Given the description of an element on the screen output the (x, y) to click on. 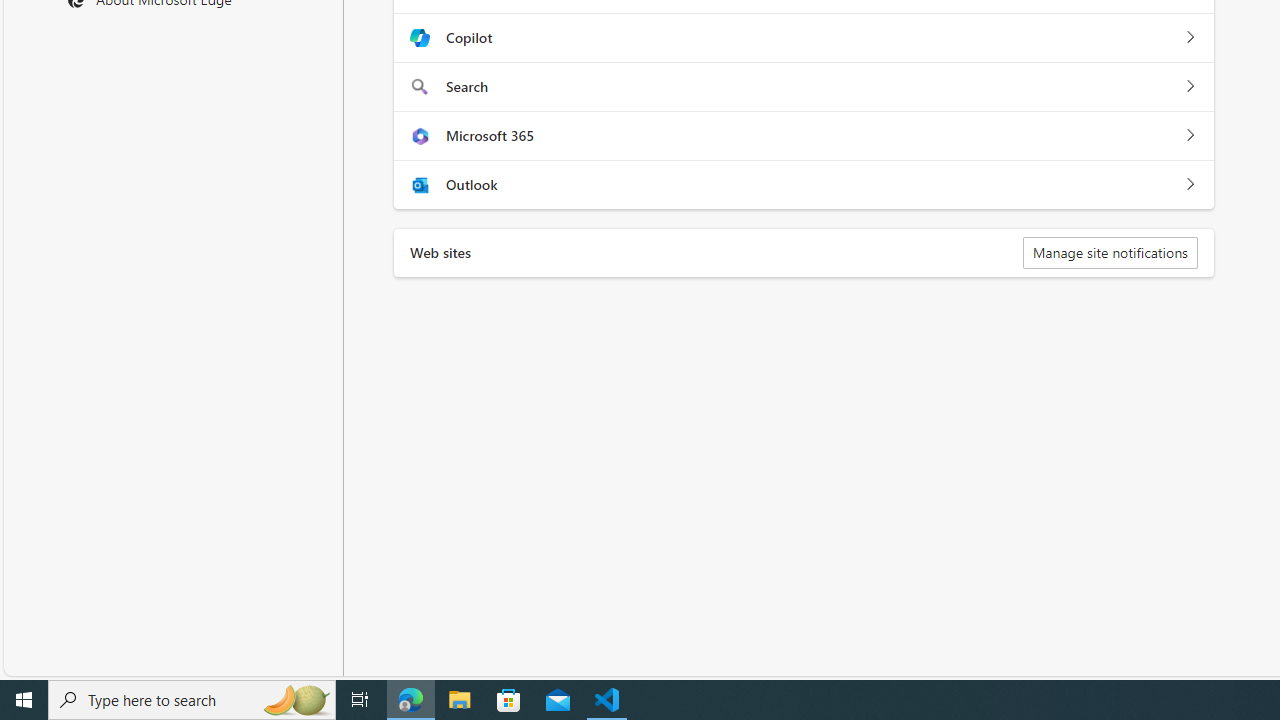
Copilot (1190, 38)
Manage site notifications (1109, 252)
